Given the description of an element on the screen output the (x, y) to click on. 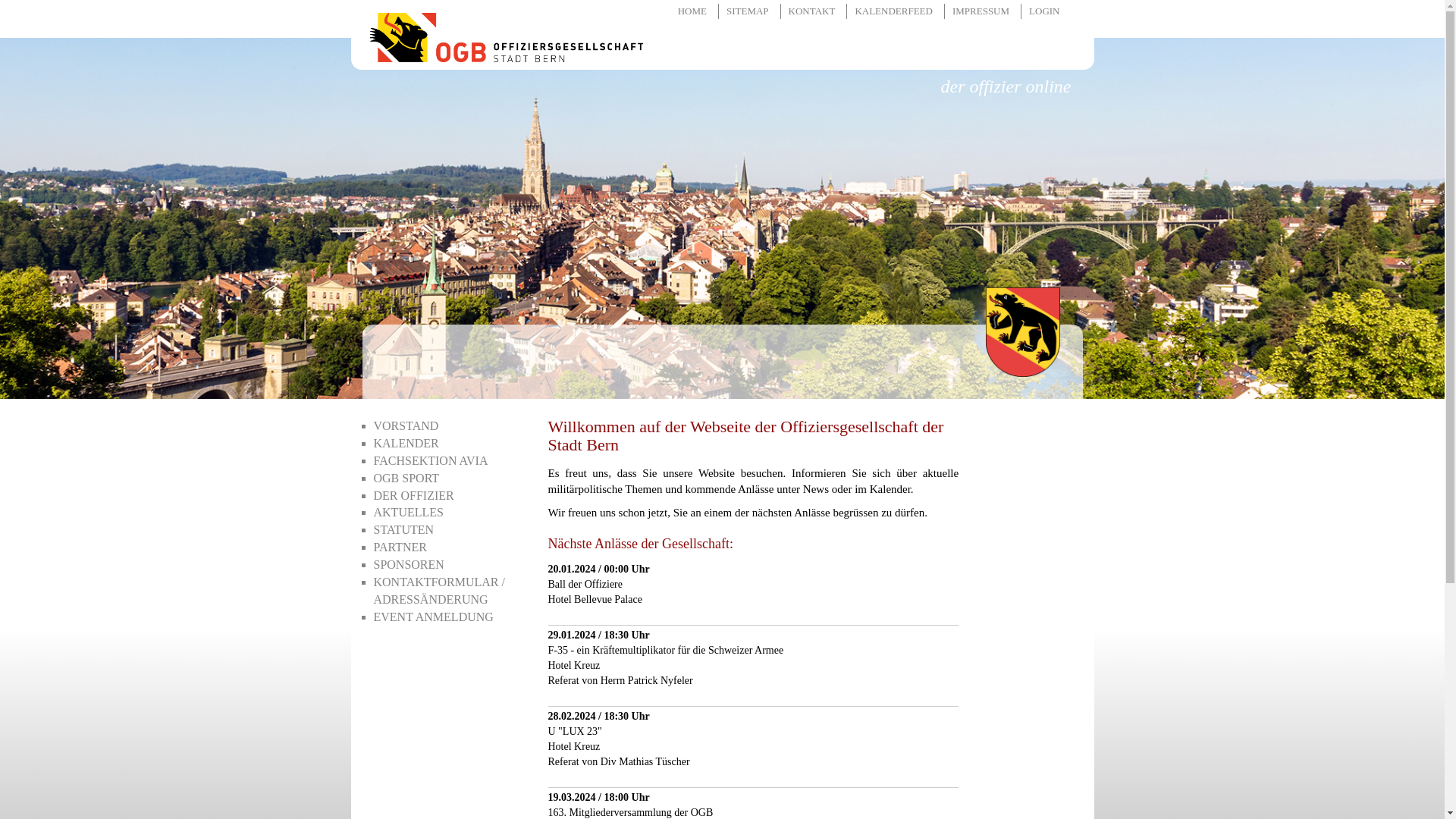
SPONSOREN Element type: text (448, 565)
PARTNER Element type: text (448, 547)
DER OFFIZIER Element type: text (448, 496)
HOME Element type: text (694, 10)
SITEMAP Element type: text (749, 10)
KALENDERFEED Element type: text (895, 10)
AKTUELLES Element type: text (448, 512)
EVENT ANMELDUNG Element type: text (448, 617)
FACHSEKTION AVIA Element type: text (448, 461)
OGB SPORT Element type: text (448, 478)
KALENDER Element type: text (448, 443)
VORSTAND Element type: text (448, 426)
KONTAKT Element type: text (814, 10)
IMPRESSUM Element type: text (982, 10)
STATUTEN Element type: text (448, 530)
LOGIN Element type: text (1045, 10)
